Given the description of an element on the screen output the (x, y) to click on. 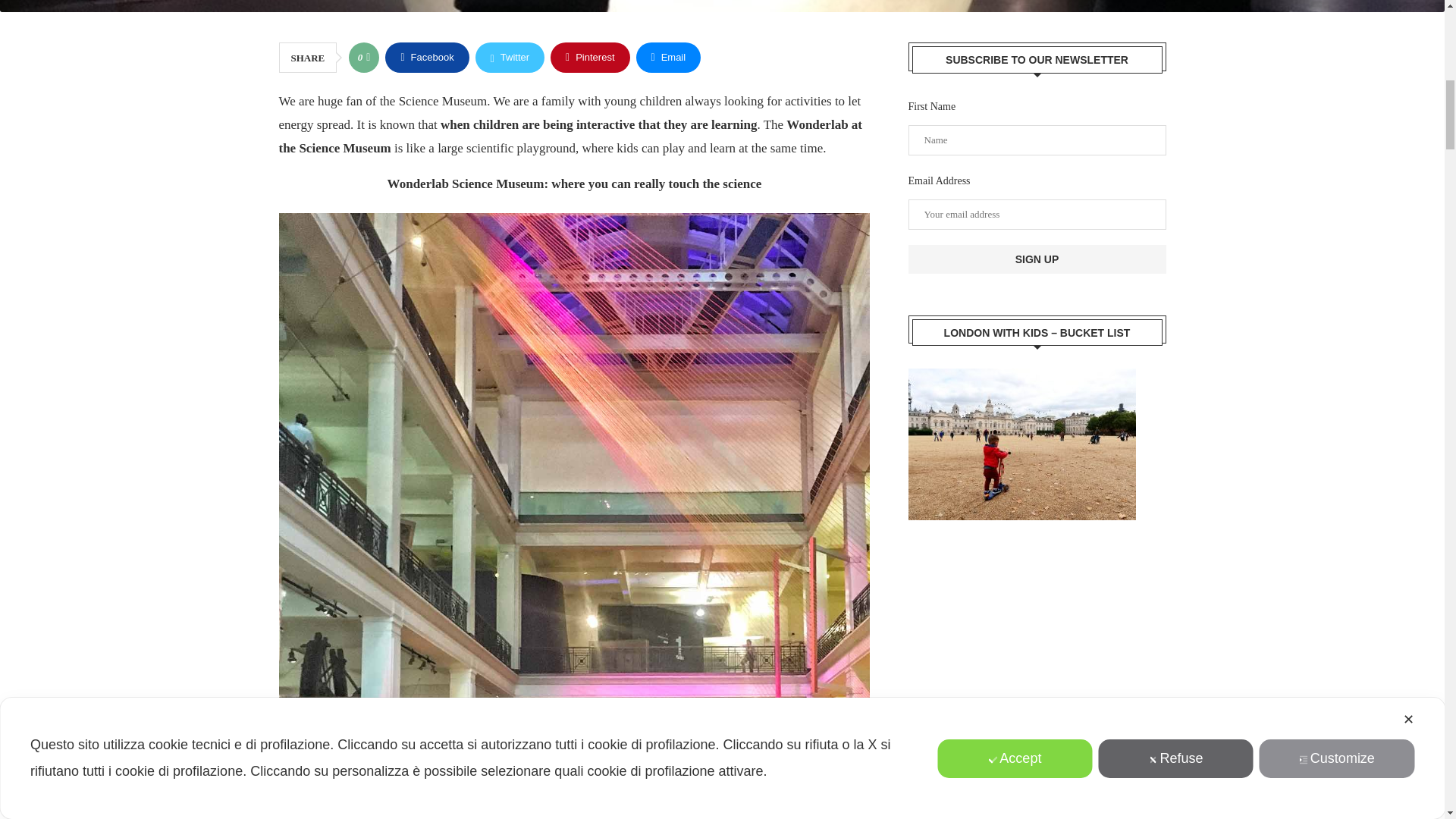
Facebook (426, 57)
Twitter (510, 57)
Pinterest (589, 57)
Sign up (1037, 258)
Email (667, 57)
